Given the description of an element on the screen output the (x, y) to click on. 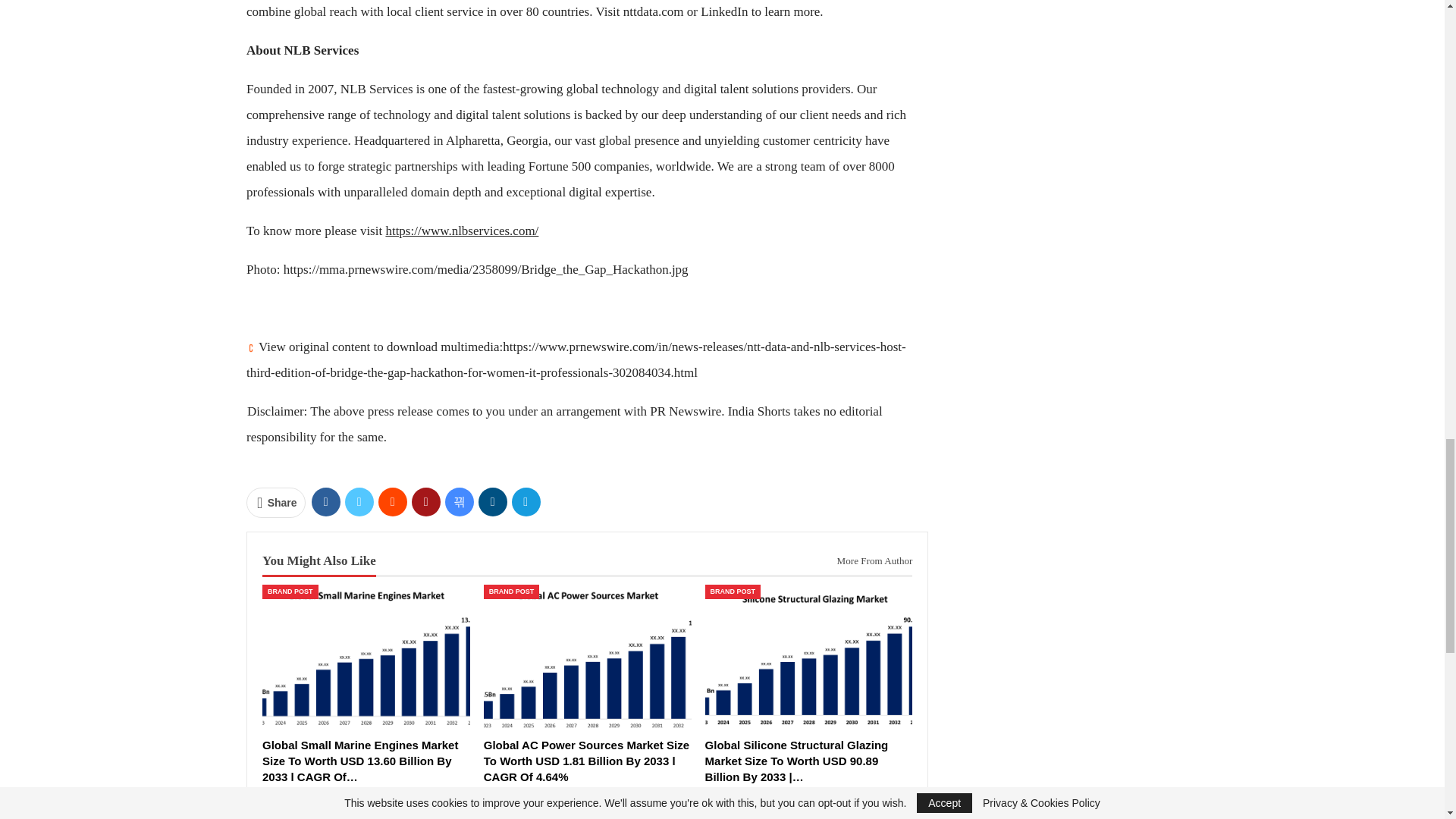
Previous (282, 809)
Next (325, 809)
Cision (251, 347)
